Given the description of an element on the screen output the (x, y) to click on. 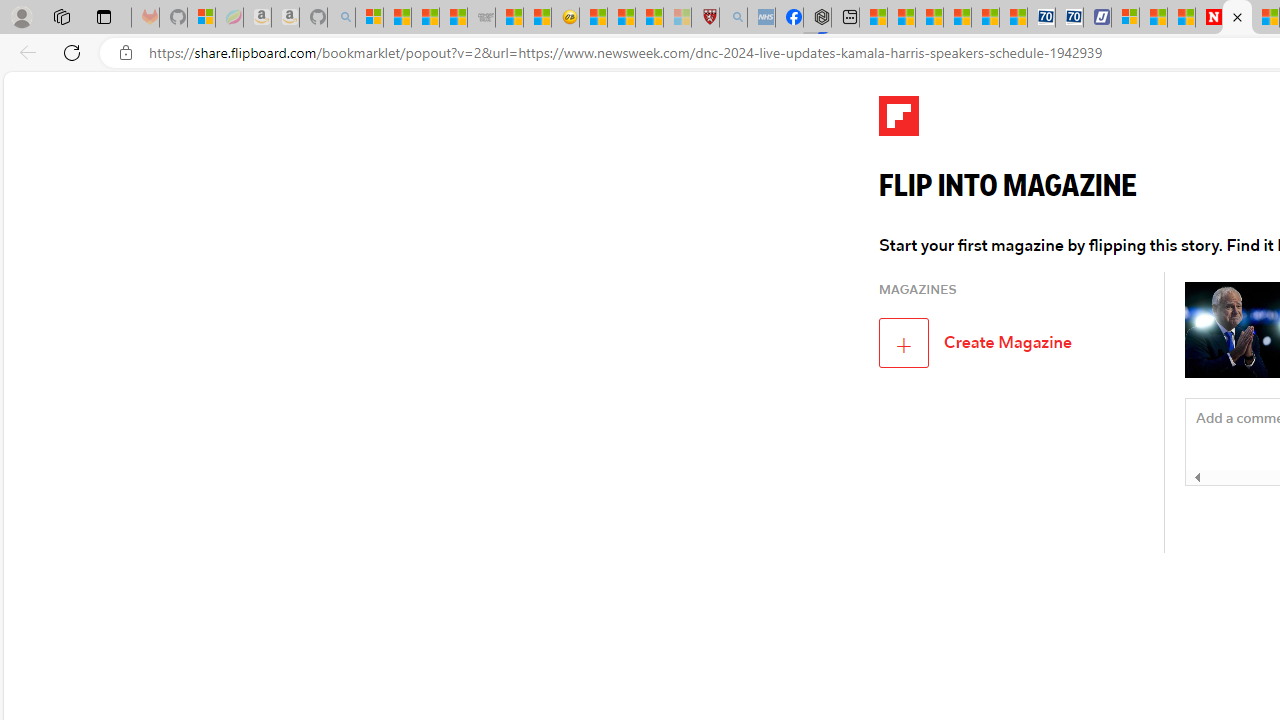
Recipes - MSN (592, 17)
Combat Siege (481, 17)
Cheap Car Rentals - Save70.com (1040, 17)
Microsoft-Report a Concern to Bing (201, 17)
Nordace - Nordace Siena Is Not An Ordinary Backpack (816, 17)
Science - MSN (649, 17)
Microsoft account | Privacy (1125, 17)
Stocks - MSN (453, 17)
